Given the description of an element on the screen output the (x, y) to click on. 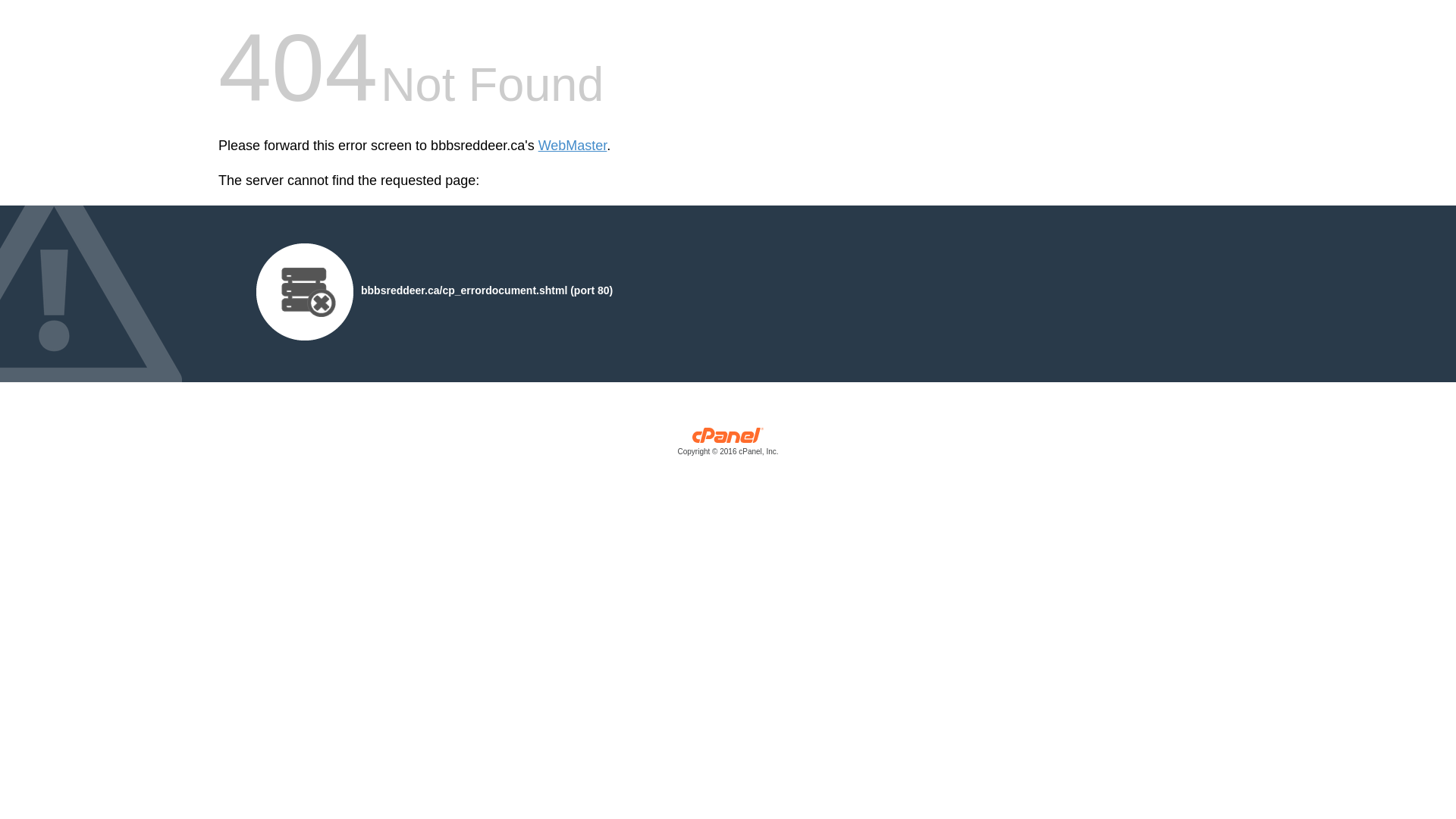
WebMaster Element type: text (572, 145)
